Given the description of an element on the screen output the (x, y) to click on. 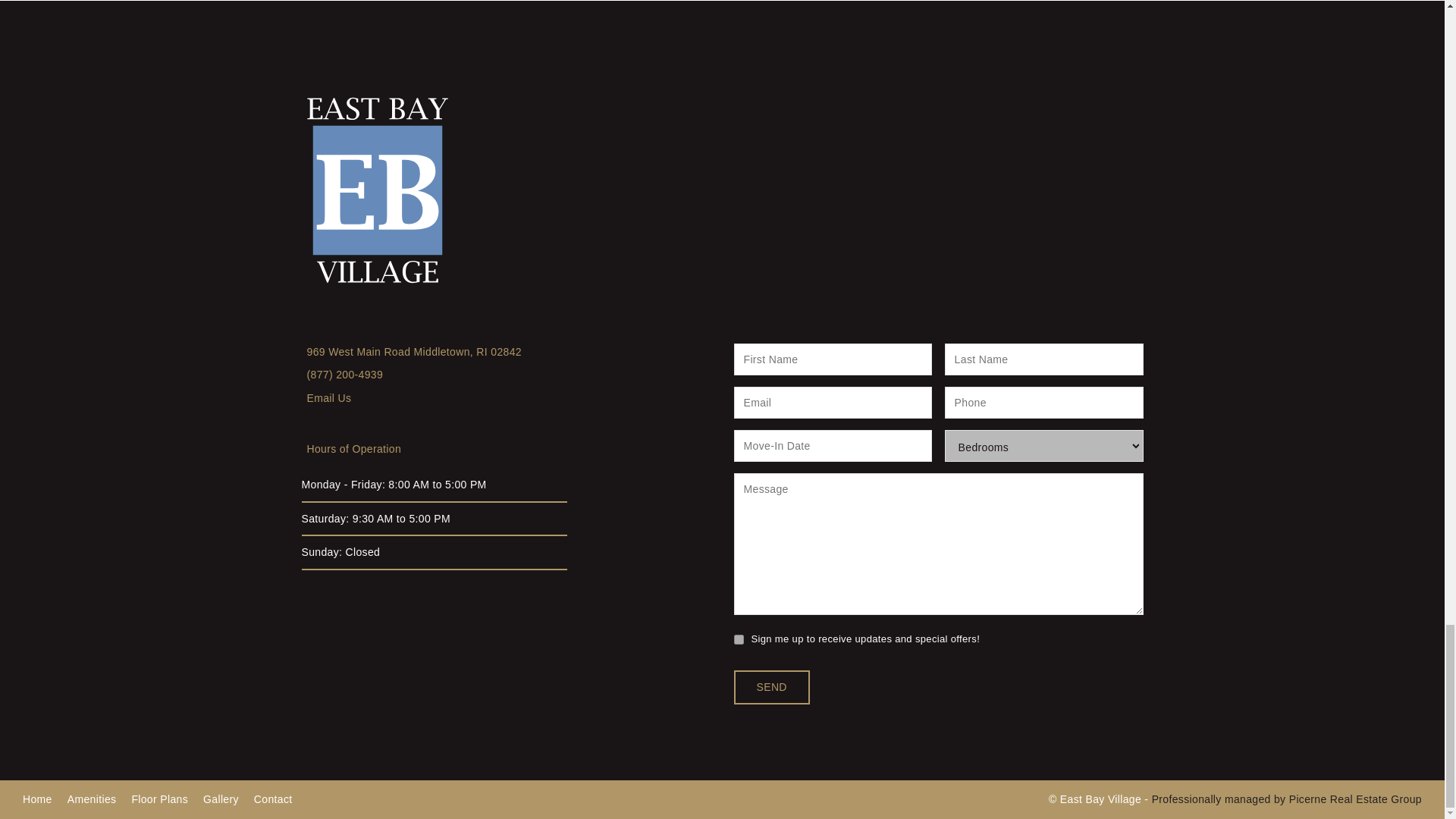
Floor Plans (159, 799)
Sign me up to receive updates and special offers! (738, 639)
Contact (272, 799)
Email Us (327, 398)
Amenities (91, 799)
Send (771, 687)
Send (771, 687)
Professionally managed by Picerne Real Estate Group (1286, 799)
Gallery (220, 799)
Home (37, 799)
